Given the description of an element on the screen output the (x, y) to click on. 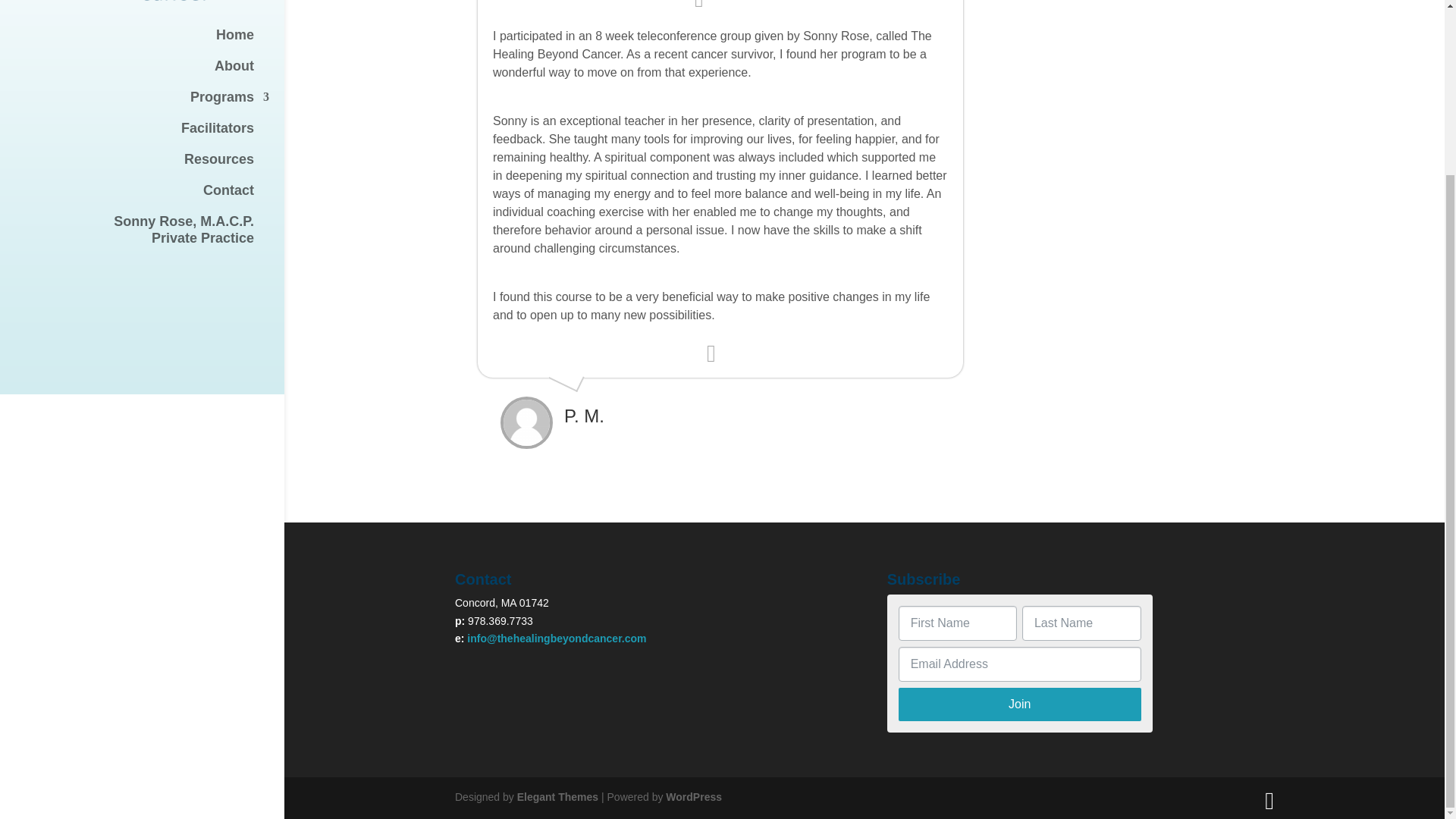
About (156, 72)
Facilitators (156, 134)
Contact (156, 196)
WordPress (693, 797)
Premium WordPress Themes (557, 797)
Resources (156, 165)
Home (156, 41)
Elegant Themes (557, 797)
Join (1019, 704)
Programs (156, 236)
